Given the description of an element on the screen output the (x, y) to click on. 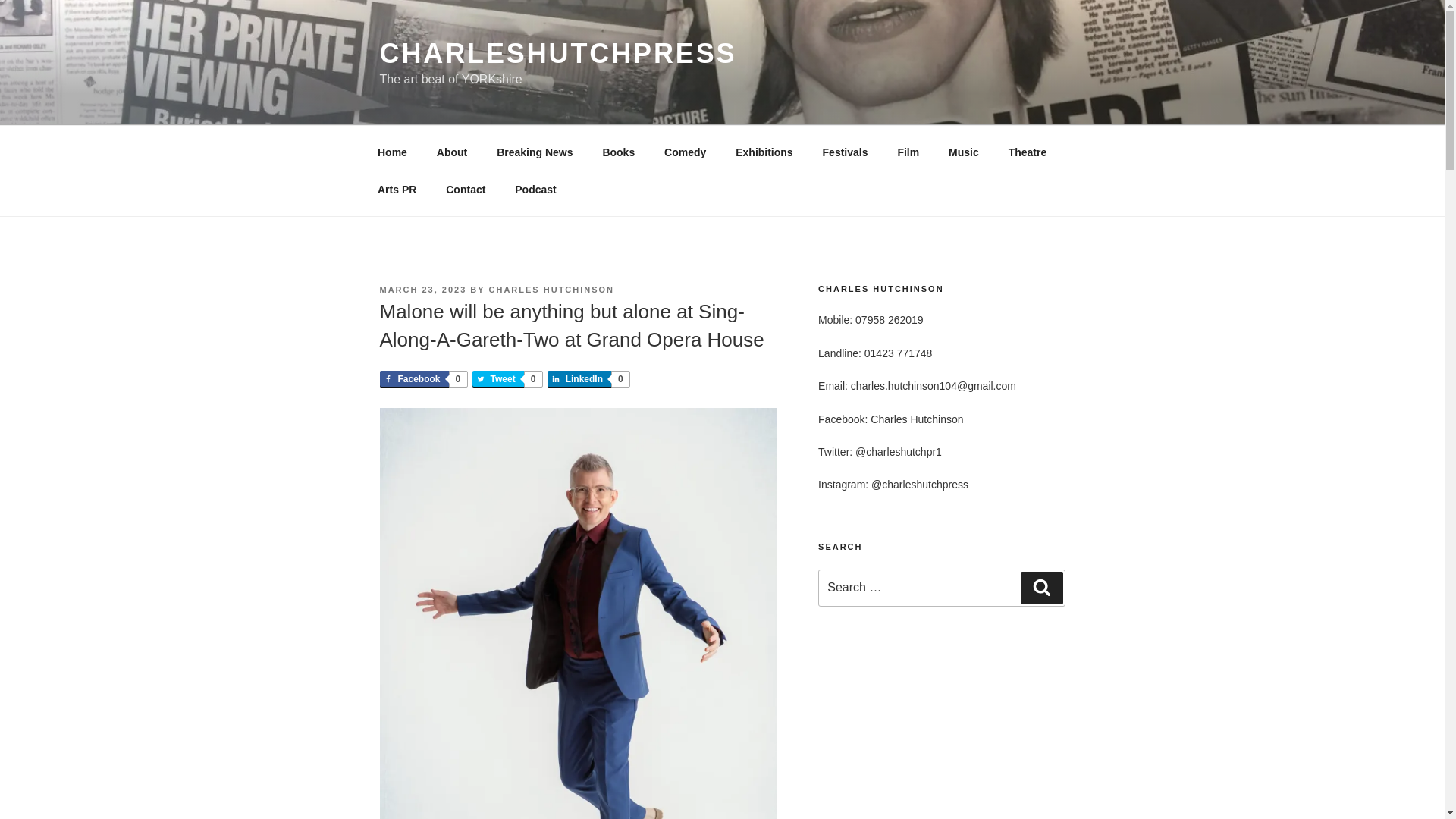
Home (392, 151)
MARCH 23, 2023 (421, 289)
Theatre (1026, 151)
Festivals (844, 151)
About (451, 151)
Exhibitions (764, 151)
Film (908, 151)
Breaking News (534, 151)
Podcast (506, 379)
Share on Facebook (535, 189)
Share on Twitter (421, 379)
CHARLES HUTCHINSON (506, 379)
Comedy (551, 289)
Search (684, 151)
